Given the description of an element on the screen output the (x, y) to click on. 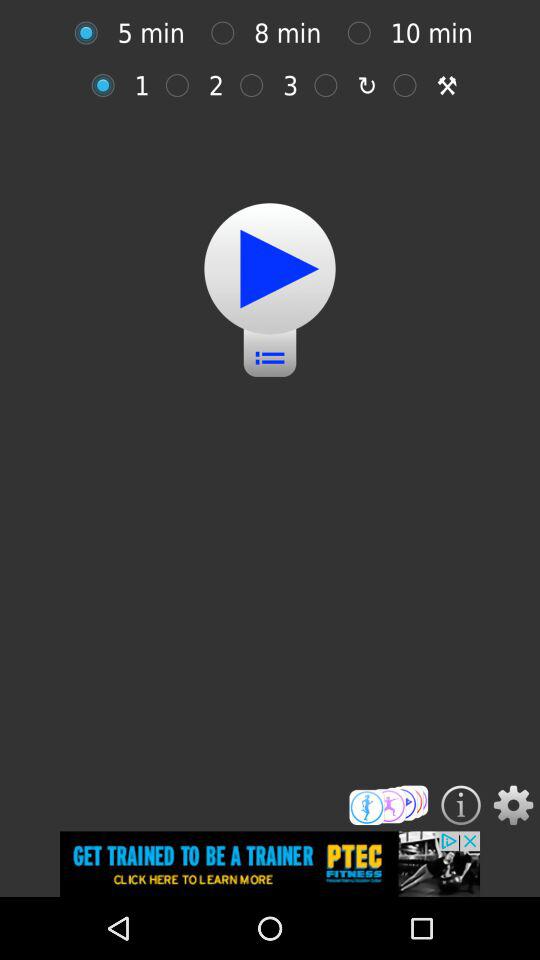
open settings (513, 805)
